Given the description of an element on the screen output the (x, y) to click on. 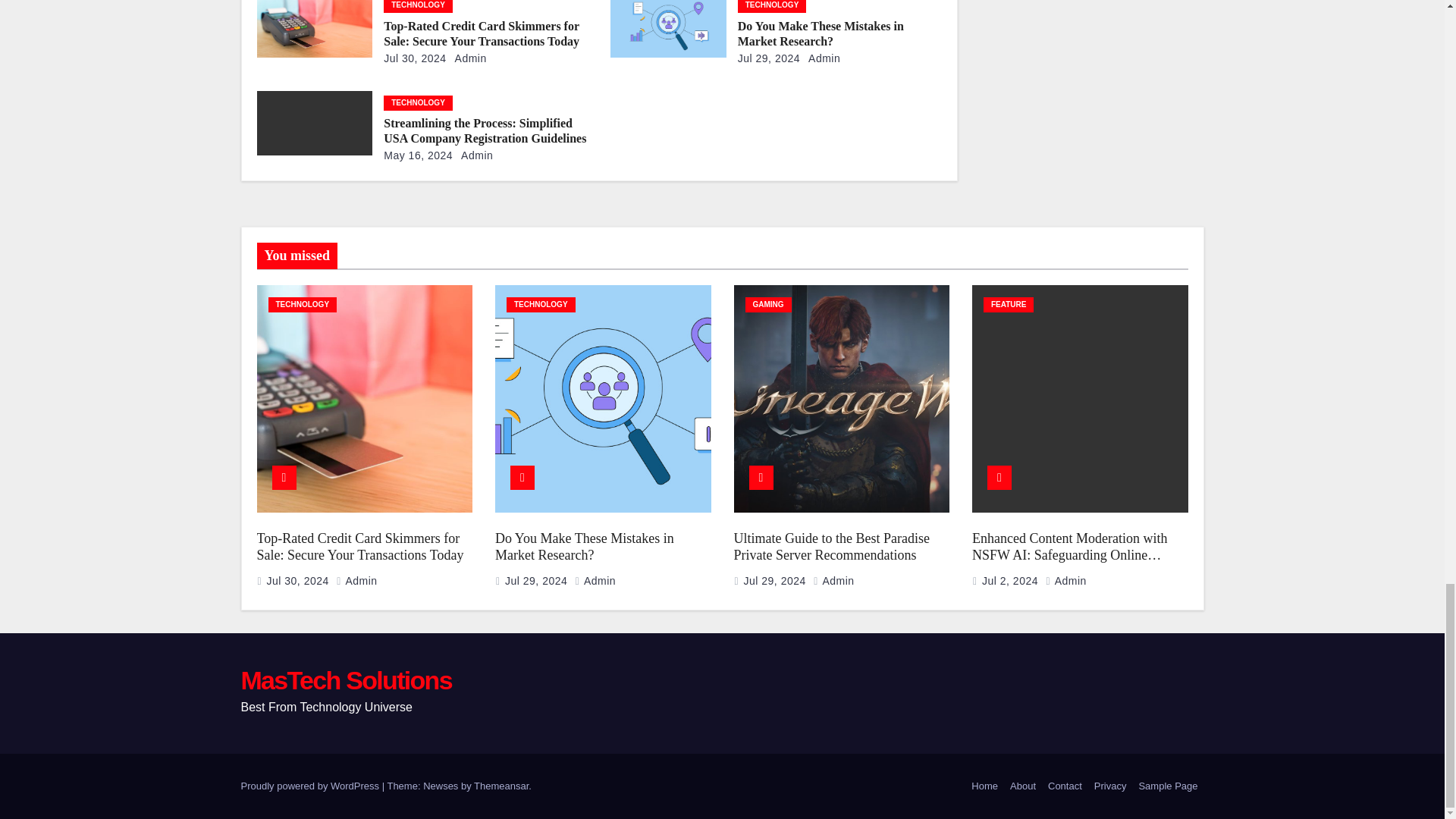
Permalink to: Do You Make These Mistakes in Market Research? (584, 546)
Jul 30, 2024 (414, 58)
Permalink to: Do You Make These Mistakes in Market Research? (821, 33)
Admin (821, 58)
TECHNOLOGY (772, 6)
Home (984, 786)
Do You Make These Mistakes in Market Research? (821, 33)
Jul 29, 2024 (768, 58)
